Given the description of an element on the screen output the (x, y) to click on. 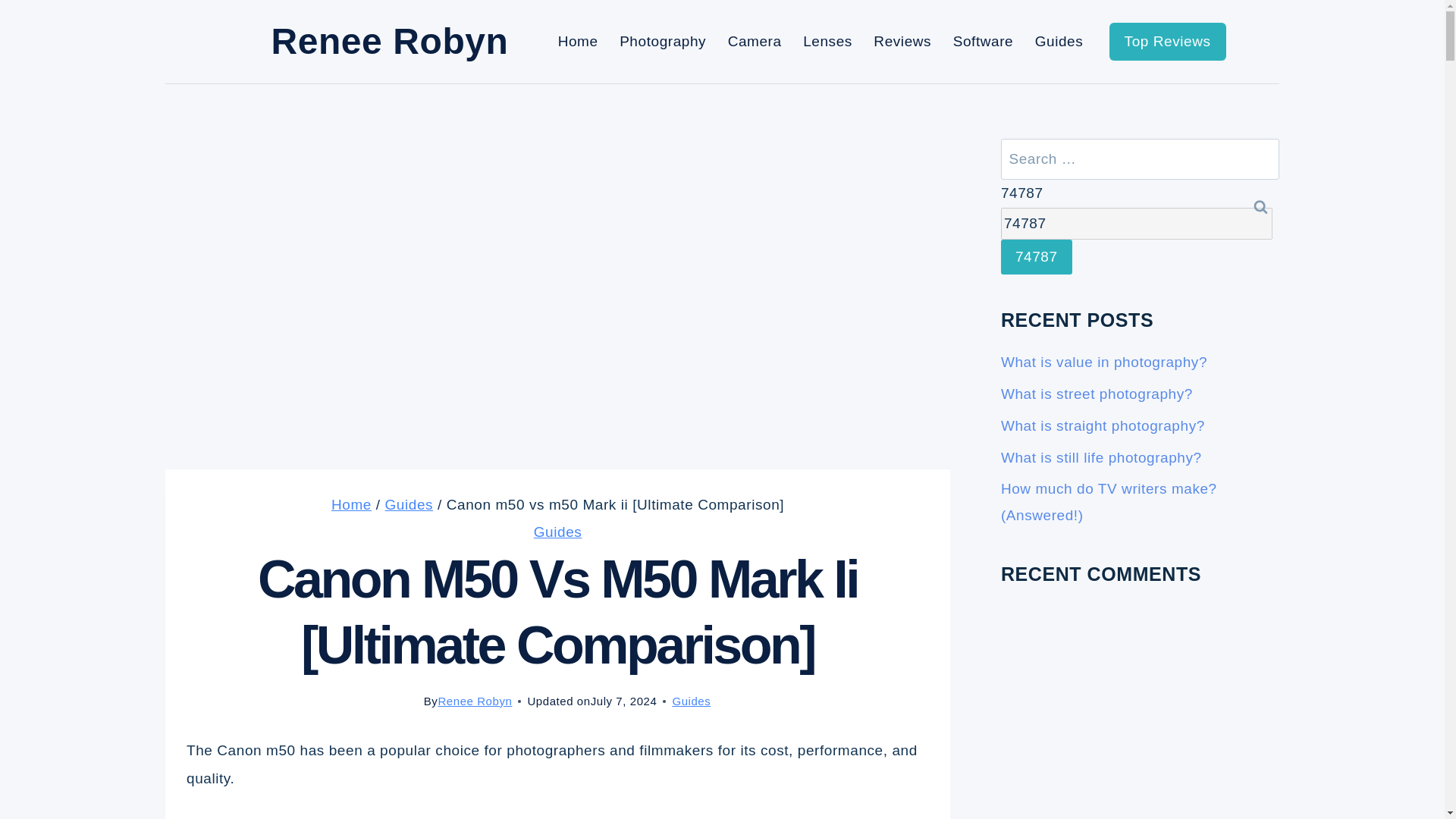
74787 (1136, 224)
Home (577, 41)
Guides (690, 700)
Home (351, 504)
Software (982, 41)
Lenses (827, 41)
74787 (1036, 256)
Reviews (902, 41)
Renee Robyn (475, 700)
Camera (754, 41)
Guides (558, 531)
Guides (409, 504)
Top Reviews (1167, 41)
Photography (662, 41)
74787 (1136, 224)
